Given the description of an element on the screen output the (x, y) to click on. 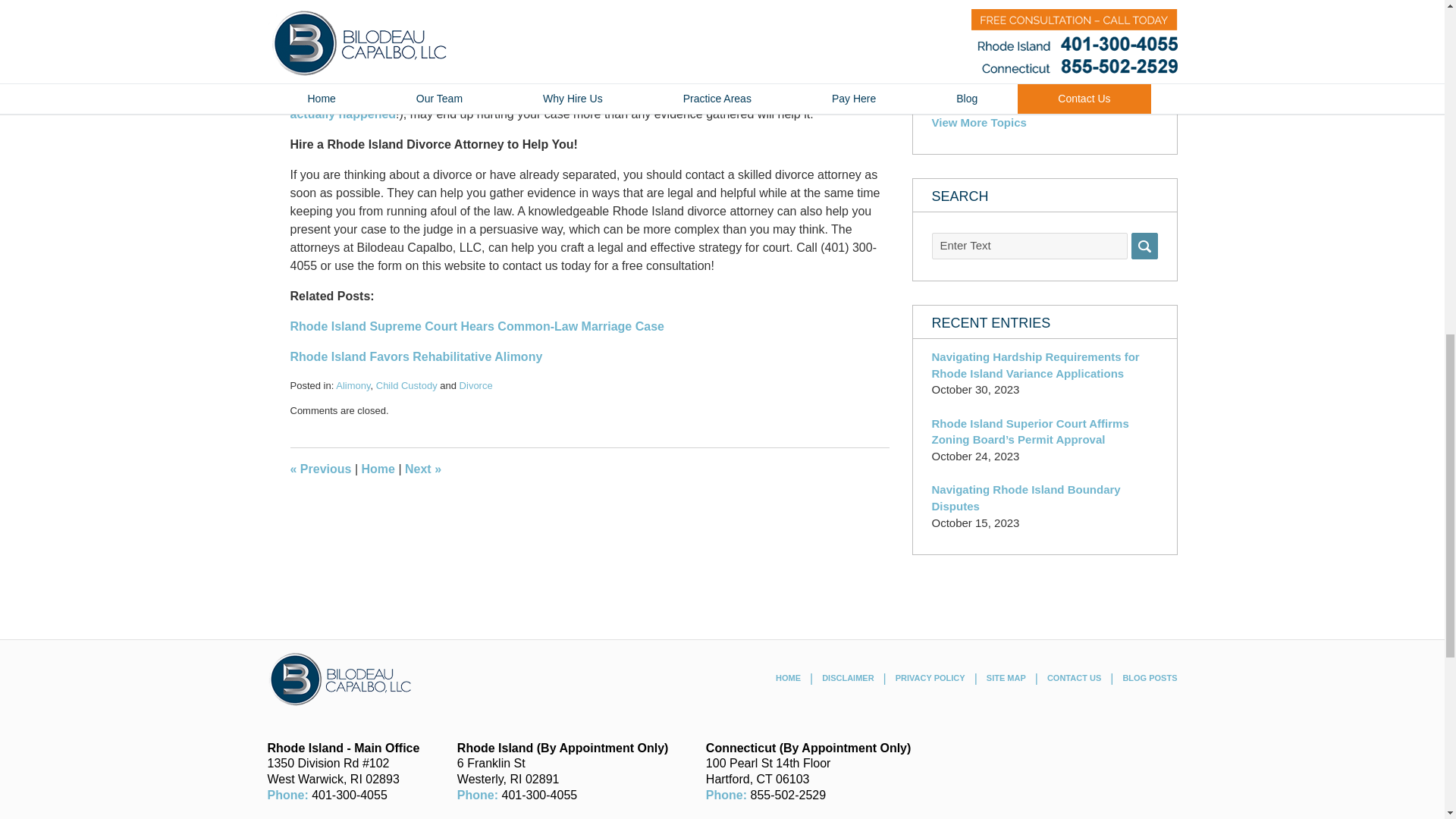
Alimony (352, 385)
Rhode Island Favors Rehabilitative Alimony (415, 356)
View all posts in Child Custody (406, 385)
Divorce (476, 385)
View all posts in Divorce (476, 385)
2018 Rhode Island Estate Tax Limits (319, 468)
Home (377, 468)
Rhode Island Supreme Court Hears Common-Law Marriage Case (476, 326)
View all posts in Alimony (352, 385)
actually happened (342, 113)
